Given the description of an element on the screen output the (x, y) to click on. 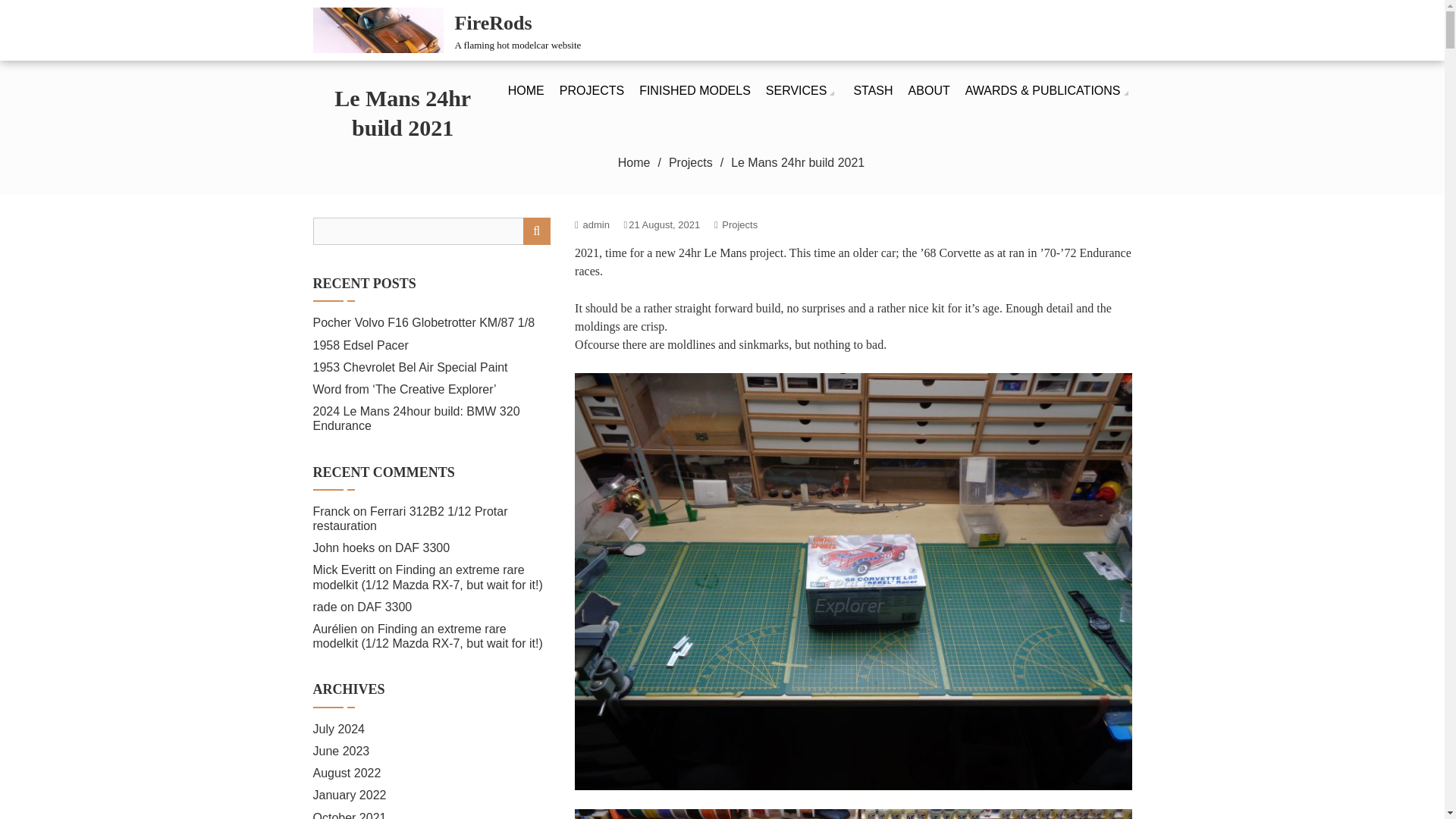
SERVICES (801, 90)
FINISHED MODELS (446, 29)
Home (695, 90)
Projects (634, 162)
PROJECTS (690, 162)
Projects (591, 90)
